Given the description of an element on the screen output the (x, y) to click on. 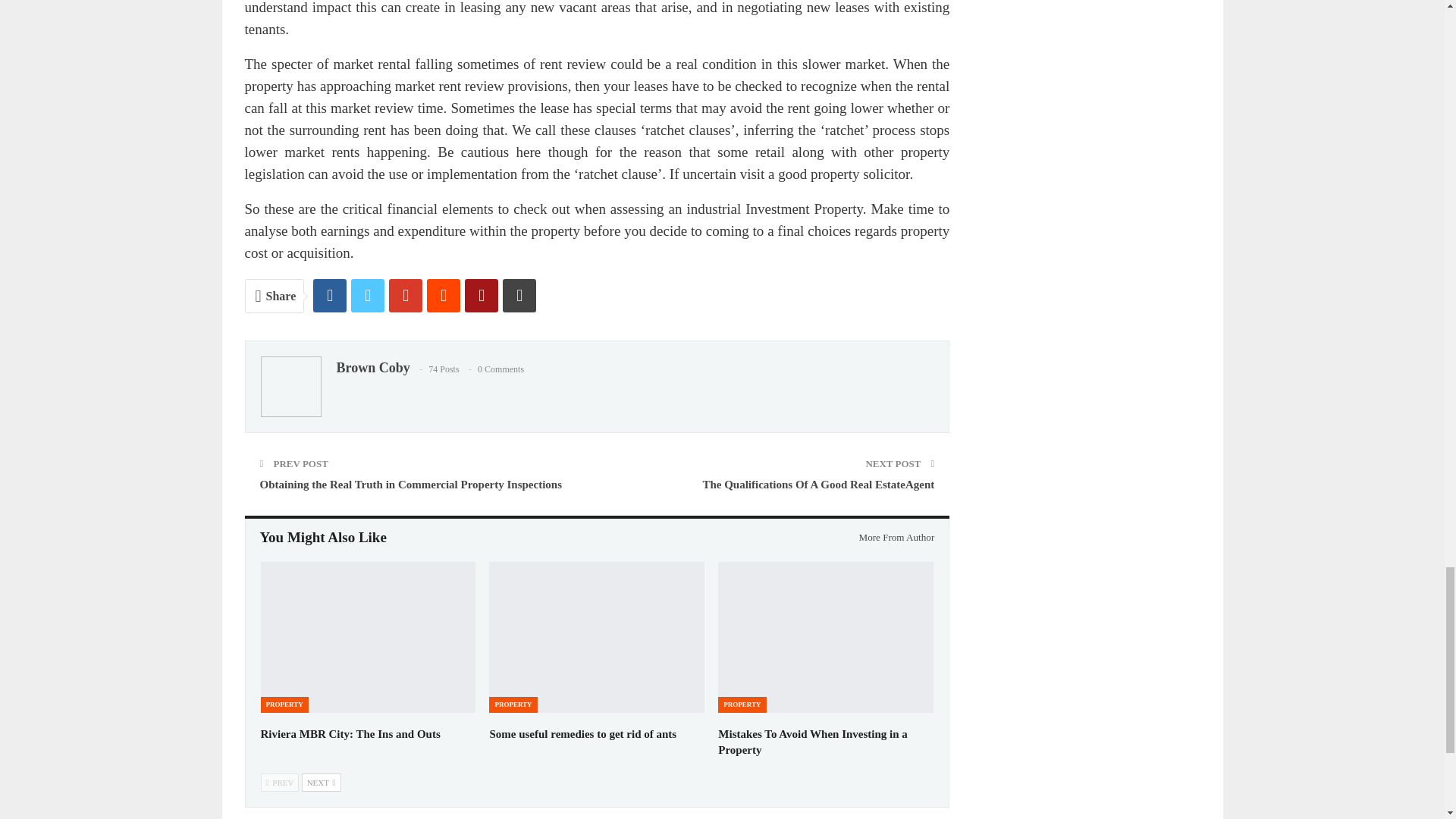
Some useful remedies to get rid of ants (583, 734)
Mistakes To Avoid When Investing in a Property (825, 636)
The Qualifications Of A Good Real EstateAgent (817, 484)
Some useful remedies to get rid of ants (596, 636)
Riviera MBR City: The Ins and Outs (368, 636)
You Might Also Like (322, 537)
Next (320, 782)
Brown Coby (373, 367)
Riviera MBR City: The Ins and Outs (350, 734)
Previous (279, 782)
Obtaining the Real Truth in Commercial Property Inspections (409, 484)
Mistakes To Avoid When Investing in a Property (812, 741)
